Given the description of an element on the screen output the (x, y) to click on. 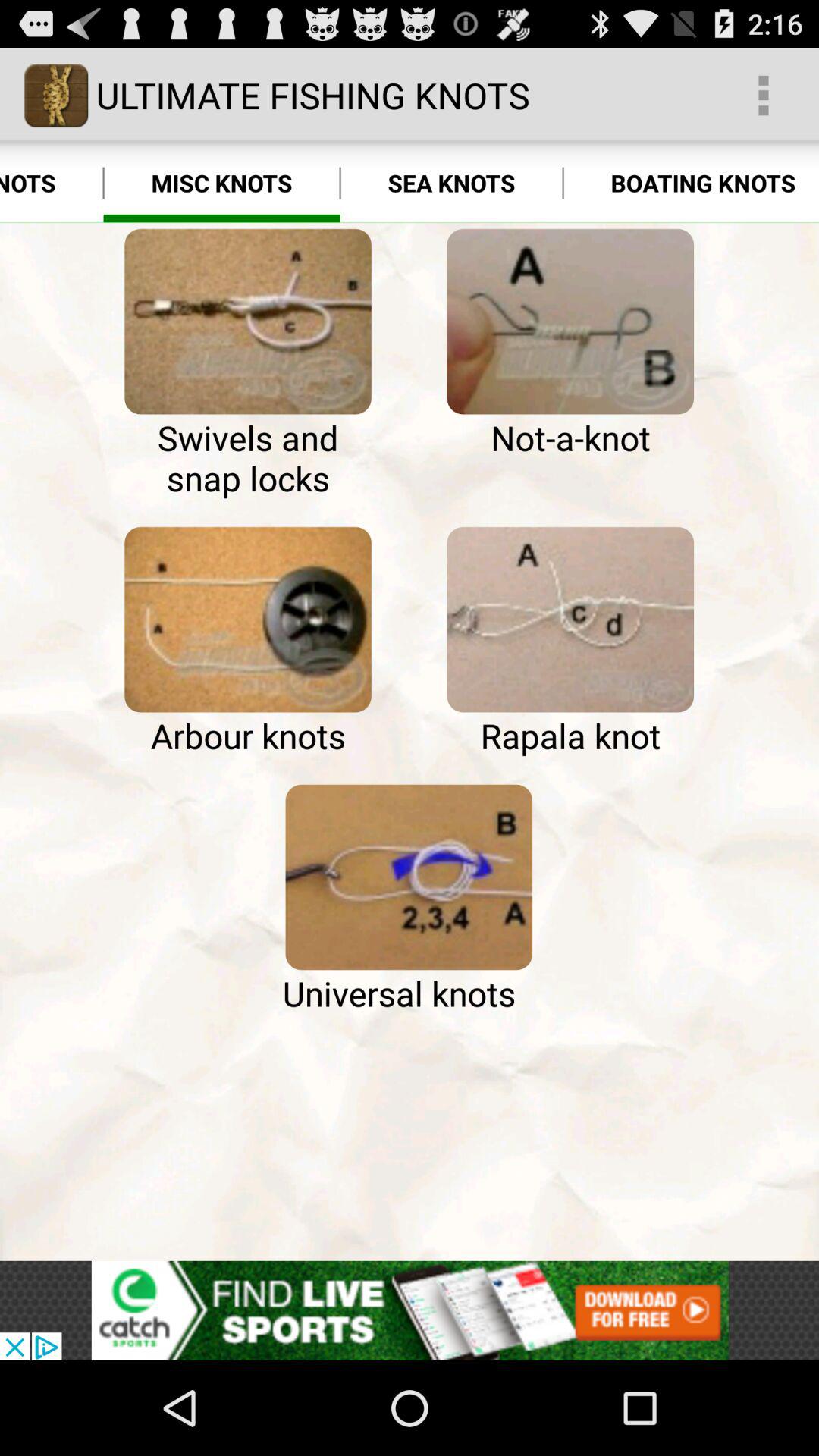
click advertisement (409, 1310)
